Given the description of an element on the screen output the (x, y) to click on. 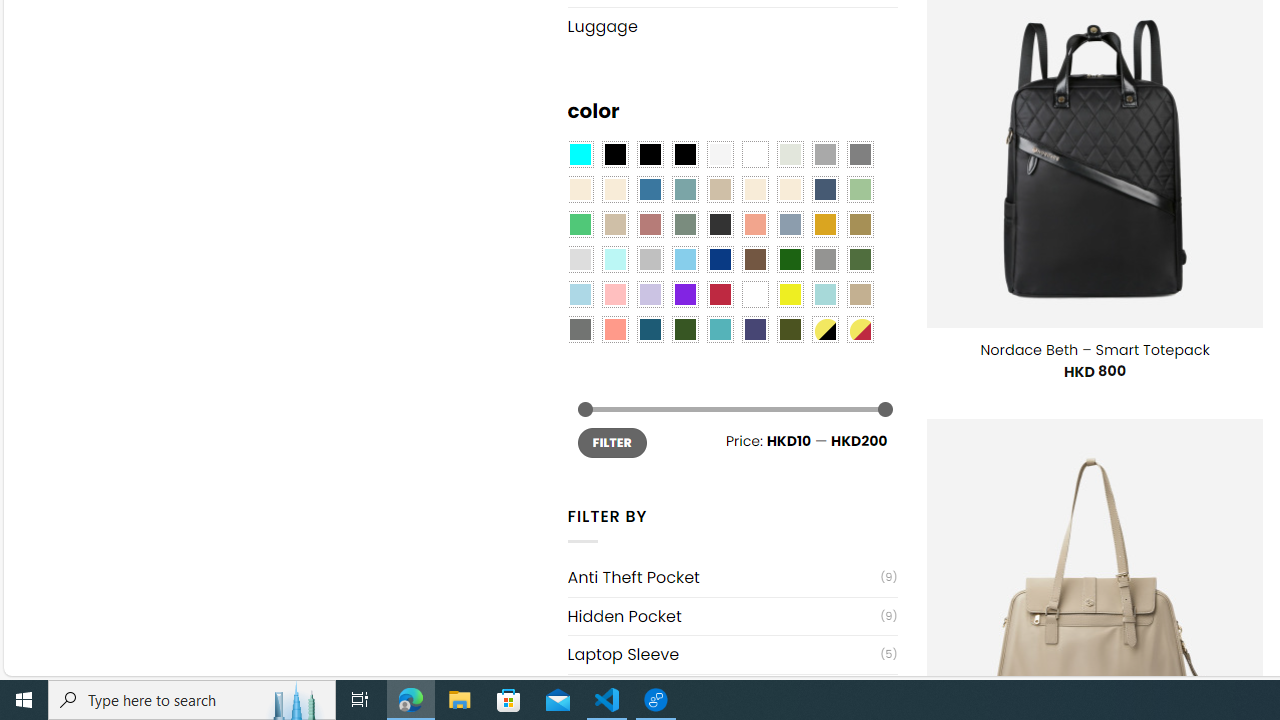
Aqua (824, 295)
Capri Blue (650, 329)
Navy Blue (719, 259)
Beige (579, 190)
Peach Pink (614, 329)
Light Purple (650, 295)
Khaki (859, 295)
USB Charging Port(5) (732, 692)
Rose (650, 224)
Aqua Blue (579, 154)
Blue (650, 190)
Black-Brown (684, 154)
FILTER (612, 442)
Dark Green (789, 259)
